Given the description of an element on the screen output the (x, y) to click on. 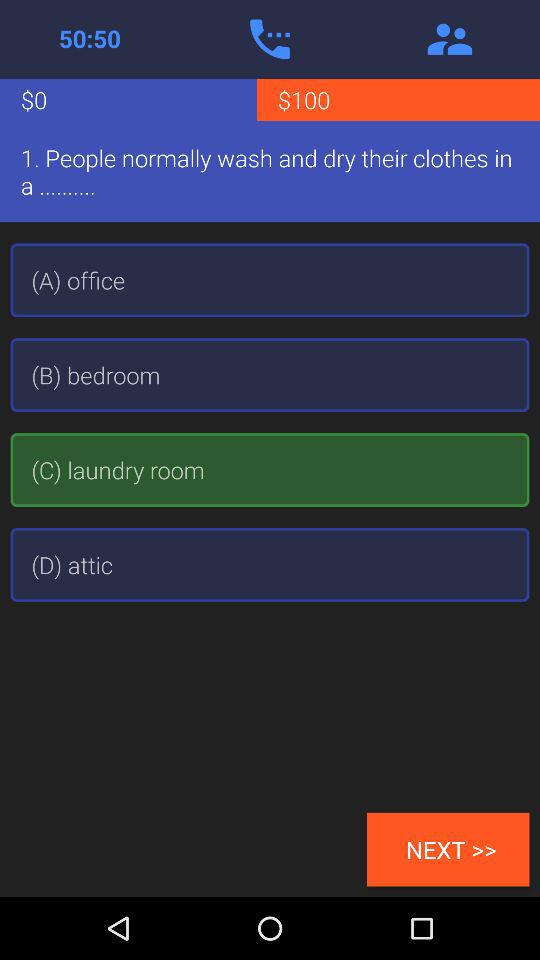
open contacts (450, 39)
